Given the description of an element on the screen output the (x, y) to click on. 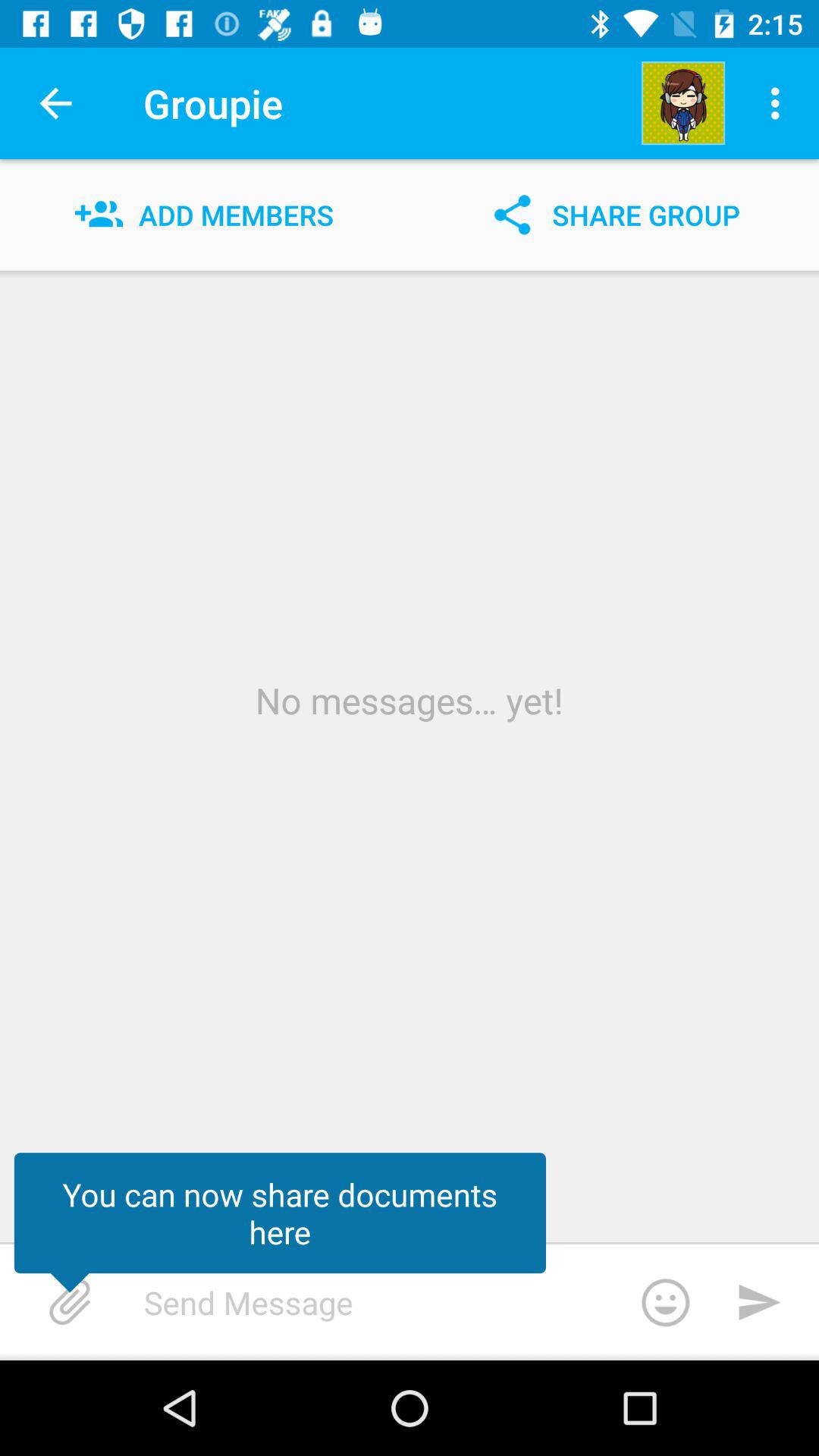
type a message (428, 1302)
